Given the description of an element on the screen output the (x, y) to click on. 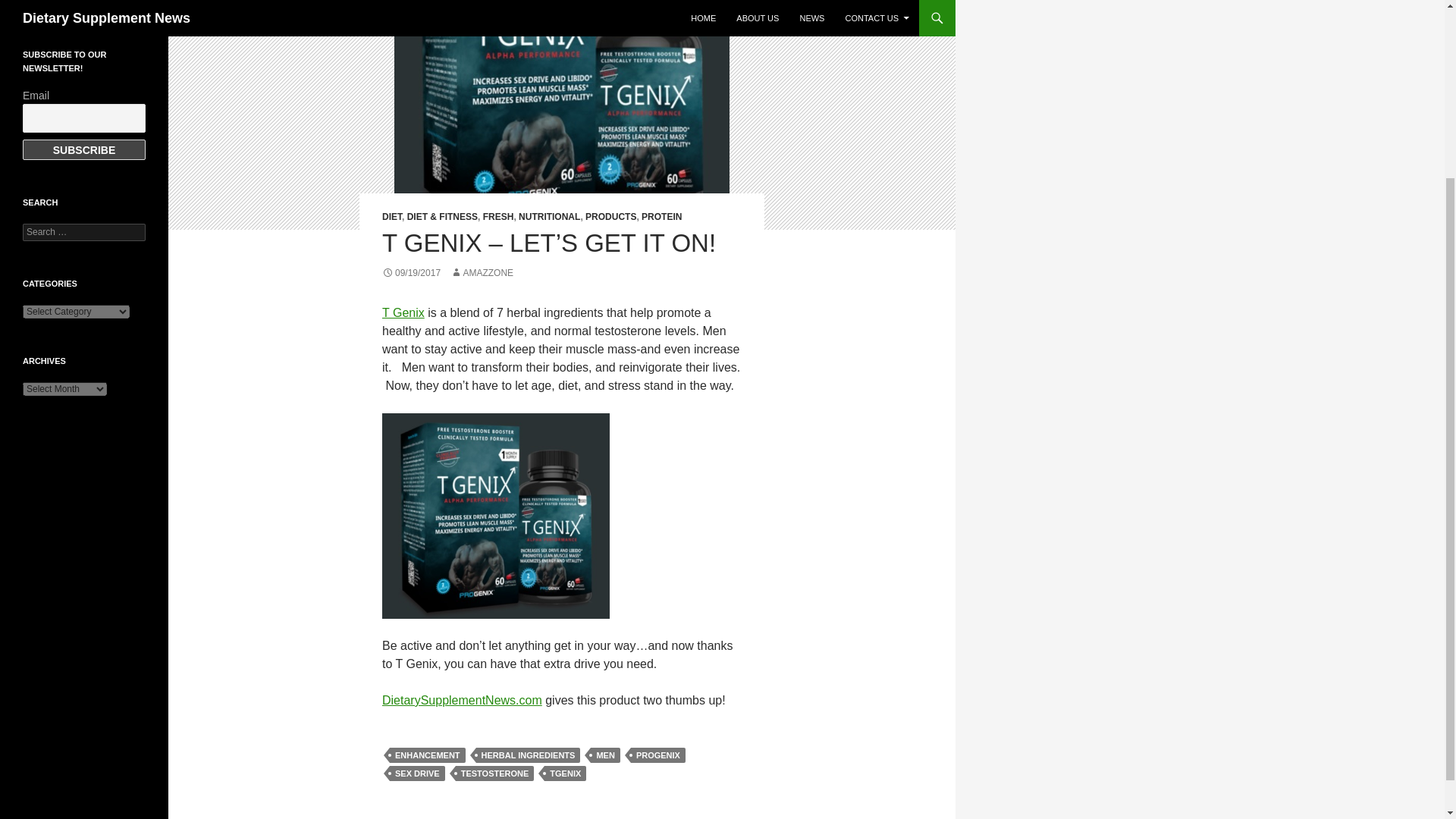
SEX DRIVE (417, 773)
NUTRITIONAL (548, 216)
Subscribe (84, 149)
DietarySupplementNews.com (461, 699)
PROTEIN (661, 216)
HERBAL INGREDIENTS (528, 754)
MEN (605, 754)
T Genix (403, 312)
DIET (391, 216)
FRESH (498, 216)
PRODUCTS (610, 216)
Subscribe (84, 149)
AMAZZONE (481, 272)
ENHANCEMENT (427, 754)
TGENIX (565, 773)
